Given the description of an element on the screen output the (x, y) to click on. 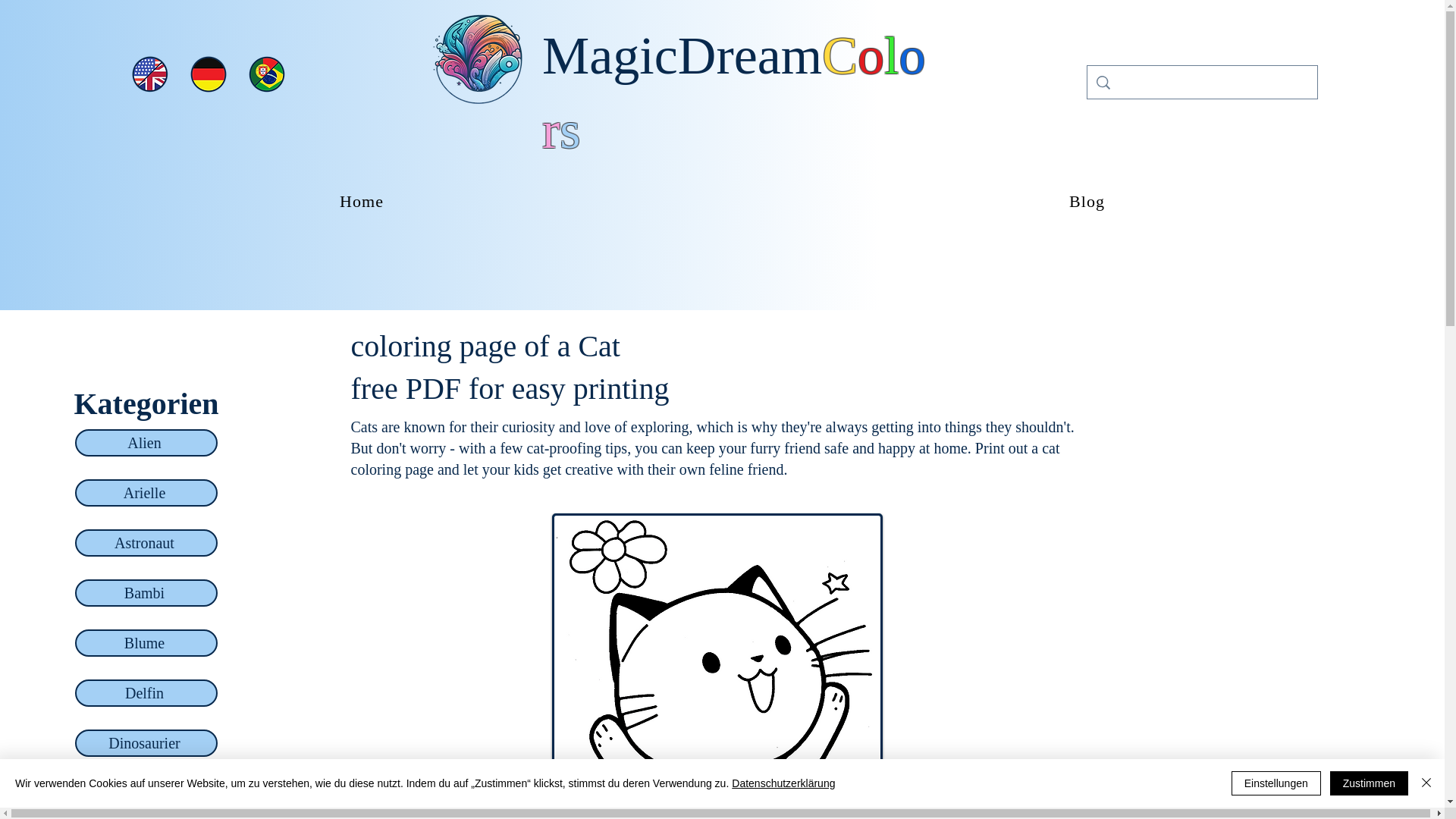
Astronaut (145, 542)
Blog (1086, 201)
MagicDreamColors (732, 92)
Blume (145, 642)
Alien (145, 442)
Einhorn (145, 792)
Arielle (145, 492)
Katze Ausmalbild zum Ausdrucken.png (716, 666)
Home (361, 201)
Dinosaurier (145, 742)
